Given the description of an element on the screen output the (x, y) to click on. 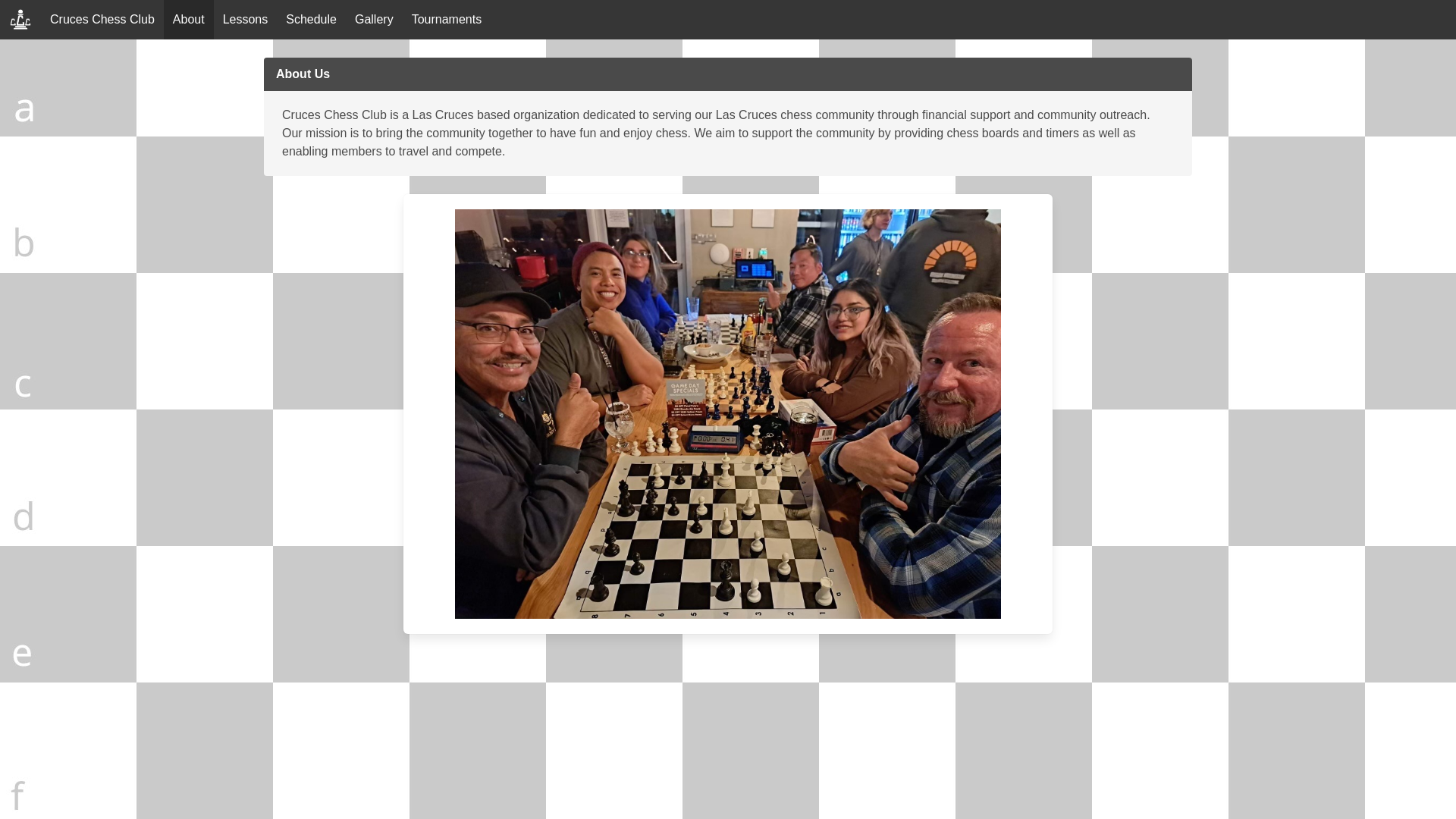
Lessons (246, 19)
Cruces Chess Club (101, 19)
Schedule (311, 19)
Gallery (374, 19)
Tournaments (447, 19)
About (188, 19)
